Given the description of an element on the screen output the (x, y) to click on. 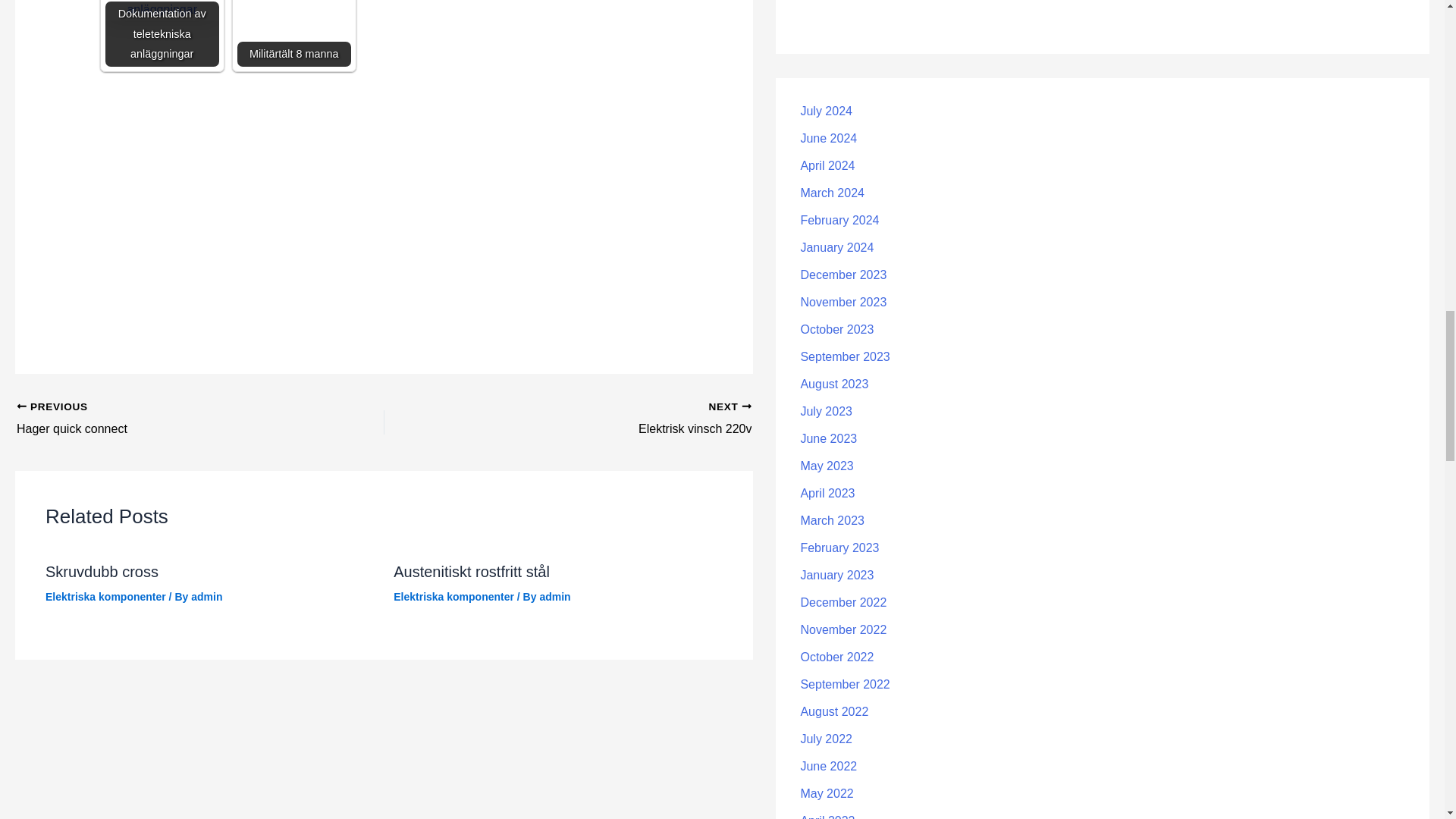
Hager quick connect (163, 418)
July 2024 (825, 110)
View all posts by admin (554, 596)
admin (206, 596)
December 2023 (842, 274)
November 2023 (842, 301)
August 2023 (604, 418)
April 2024 (833, 383)
View all posts by admin (826, 164)
